Given the description of an element on the screen output the (x, y) to click on. 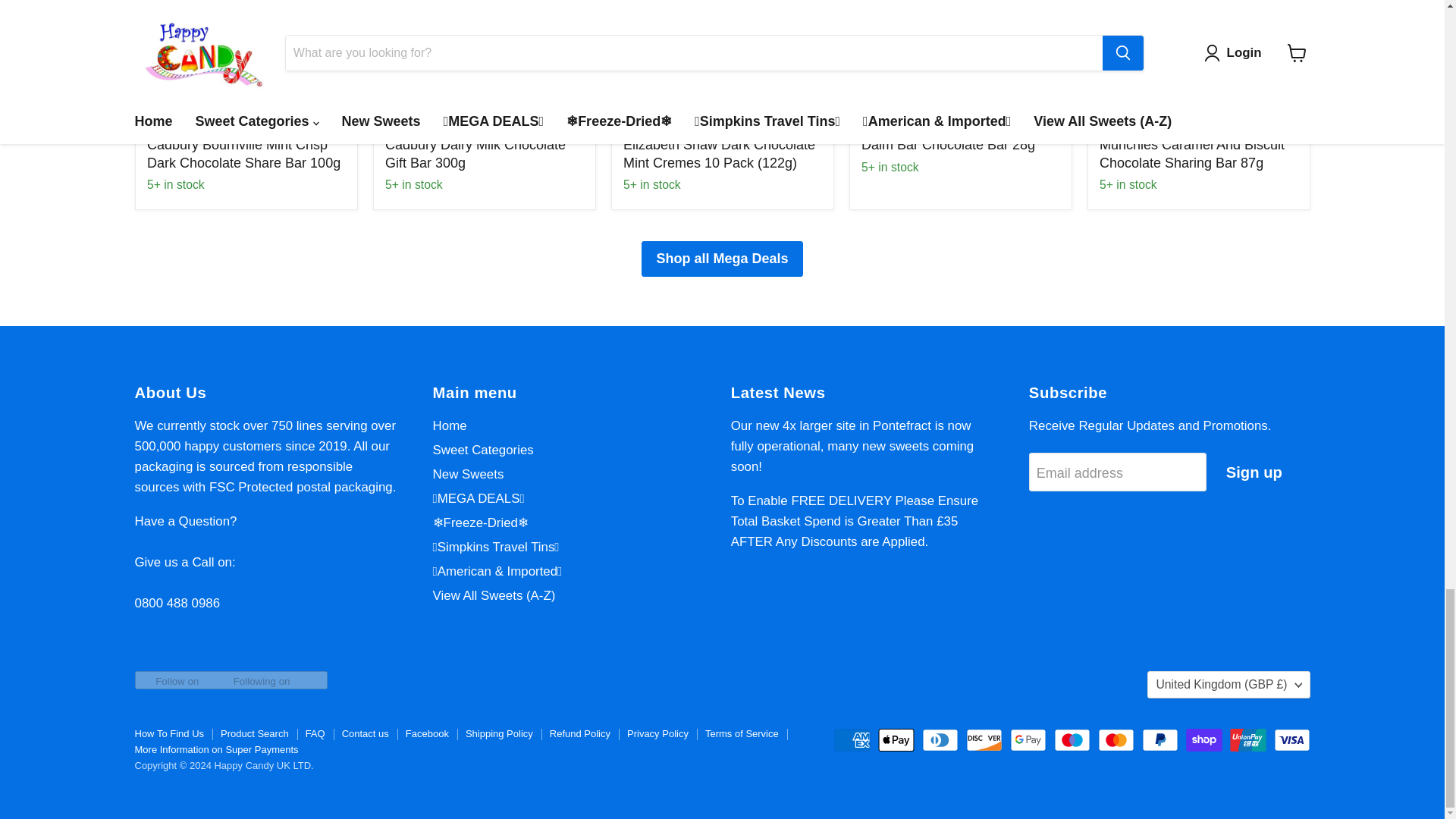
Diners Club (939, 739)
Discover (984, 739)
American Express (852, 739)
Apple Pay (895, 739)
Google Pay (1028, 739)
